Given the description of an element on the screen output the (x, y) to click on. 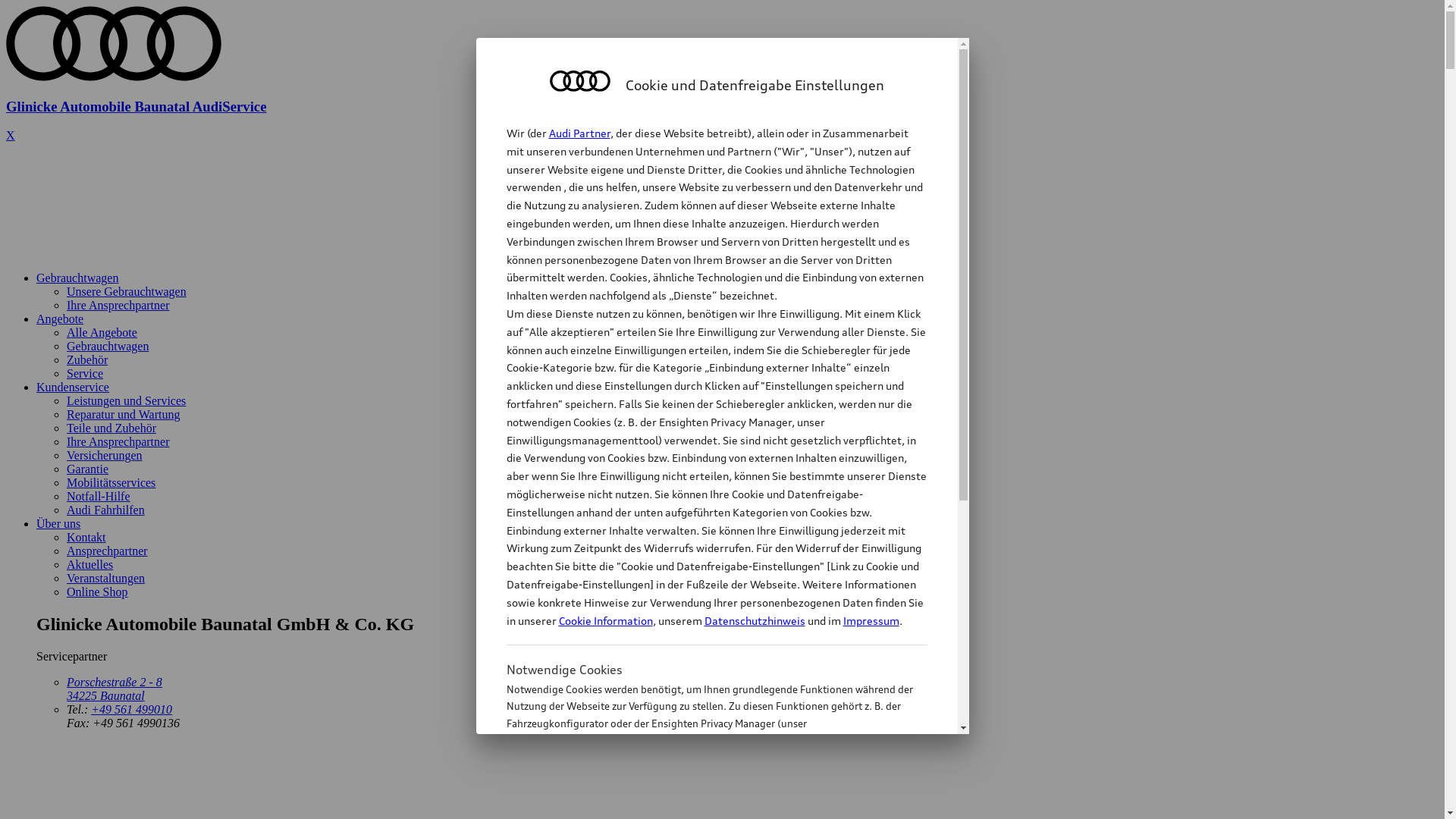
Ihre Ansprechpartner Element type: text (117, 304)
Ihre Ansprechpartner Element type: text (117, 441)
Leistungen und Services Element type: text (125, 400)
Alle Angebote Element type: text (101, 332)
+49 561 499010 Element type: text (131, 708)
Angebote Element type: text (59, 318)
Datenschutzhinweis Element type: text (753, 620)
Ansprechpartner Element type: text (106, 550)
Gebrauchtwagen Element type: text (107, 345)
Reparatur und Wartung Element type: text (122, 413)
Online Shop Element type: text (96, 591)
Kundenservice Element type: text (72, 386)
Impressum Element type: text (871, 620)
Audi Fahrhilfen Element type: text (105, 509)
X Element type: text (10, 134)
Cookie Information Element type: text (605, 620)
Service Element type: text (84, 373)
Versicherungen Element type: text (104, 454)
Gebrauchtwagen Element type: text (77, 277)
Garantie Element type: text (87, 468)
Kontakt Element type: text (86, 536)
Unsere Gebrauchtwagen Element type: text (126, 291)
Audi Partner Element type: text (579, 132)
Cookie Information Element type: text (700, 798)
Aktuelles Element type: text (89, 564)
Glinicke Automobile Baunatal AudiService Element type: text (722, 92)
Veranstaltungen Element type: text (105, 577)
Notfall-Hilfe Element type: text (98, 495)
